Given the description of an element on the screen output the (x, y) to click on. 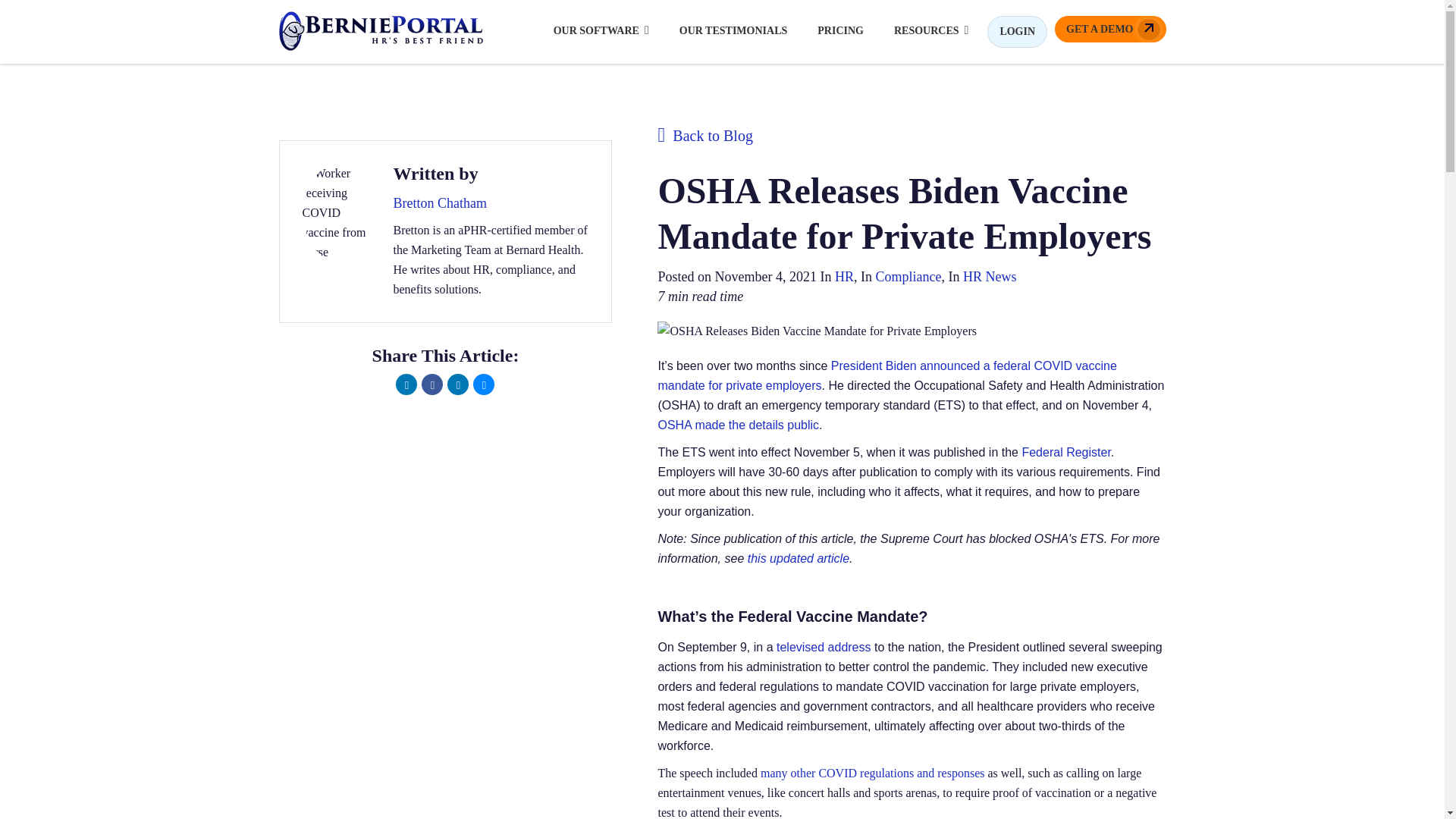
Federal Register (1065, 451)
LOGIN (1016, 31)
this updated article (798, 558)
PRICING (840, 30)
OUR TESTIMONIALS (733, 30)
RESOURCES (930, 30)
HR (843, 276)
many other COVID regulations and responses (872, 772)
Compliance (907, 276)
OUR SOFTWARE (601, 30)
